Given the description of an element on the screen output the (x, y) to click on. 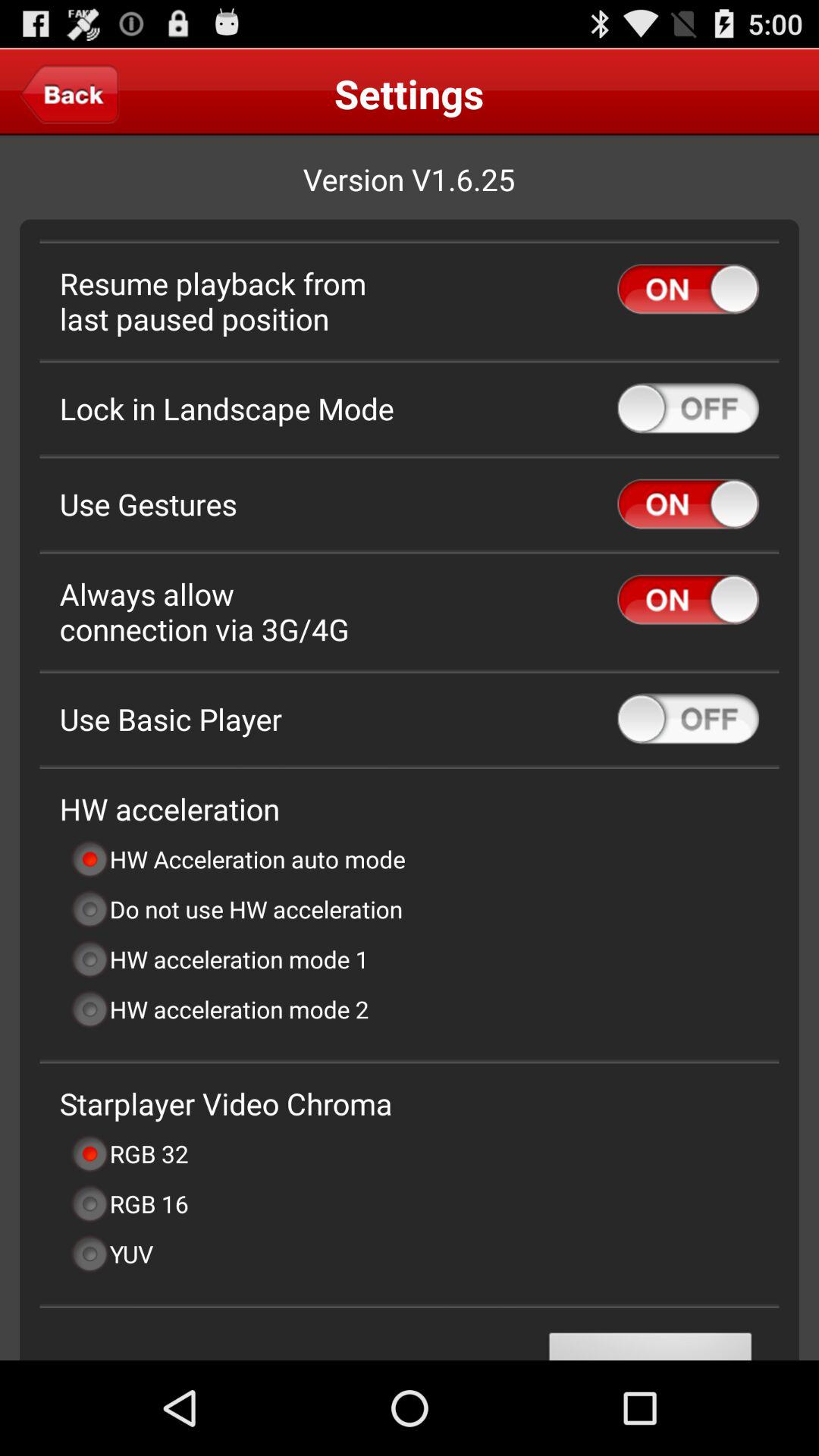
tap yuv (111, 1254)
